Given the description of an element on the screen output the (x, y) to click on. 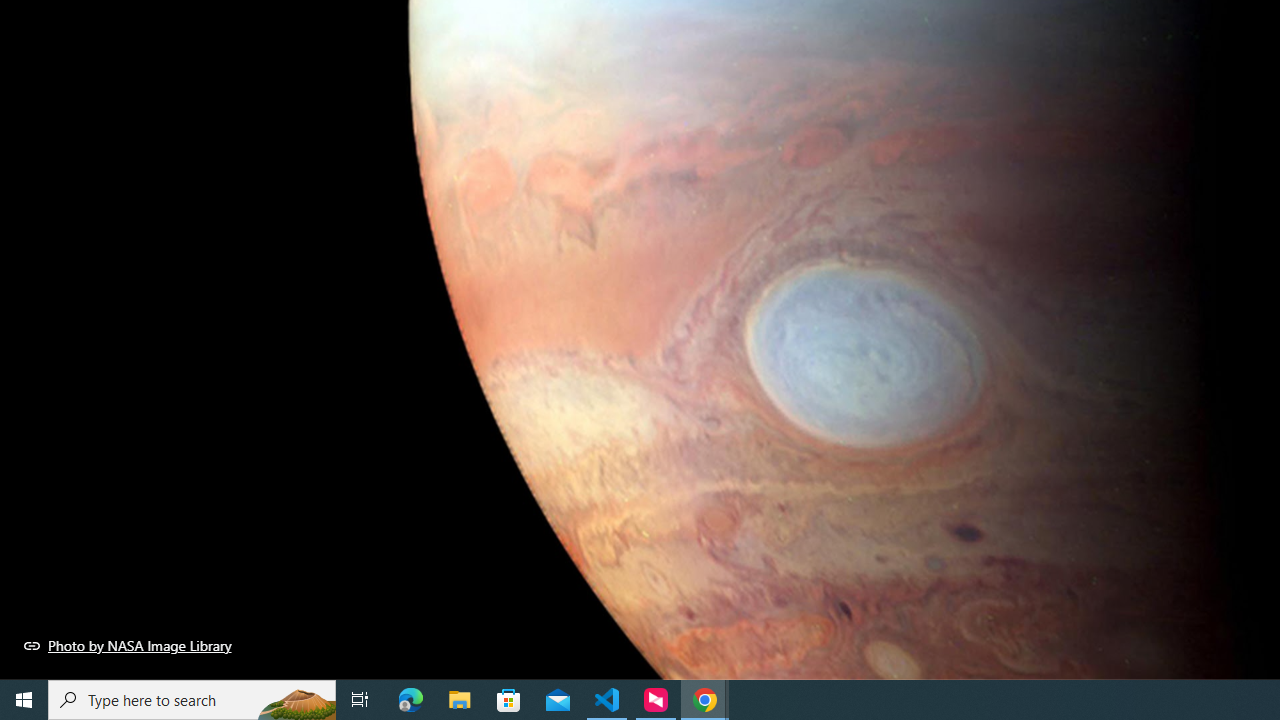
Photo by NASA Image Library (127, 645)
